Given the description of an element on the screen output the (x, y) to click on. 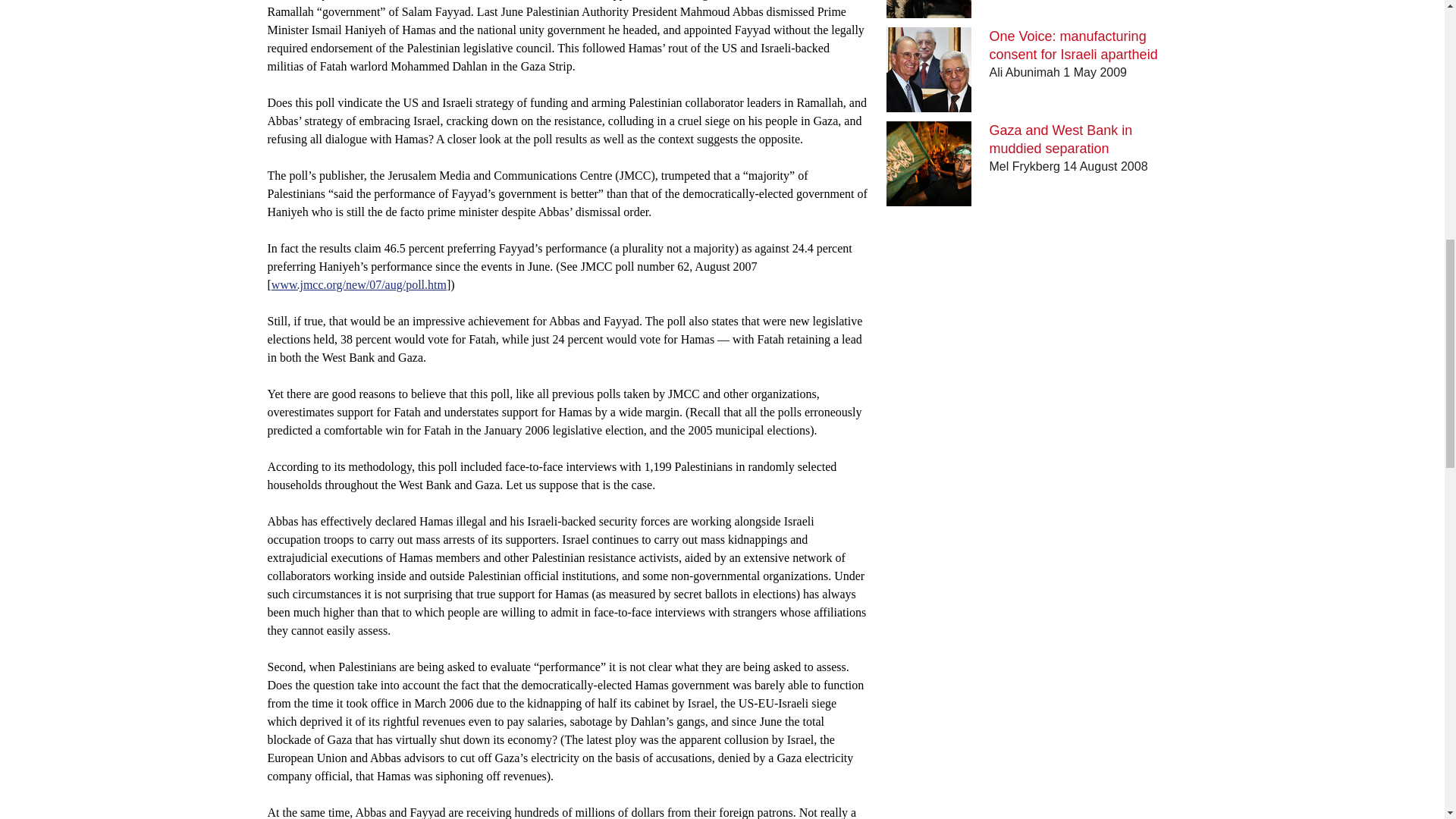
Gaza and West Bank in muddied separation (1061, 139)
One Voice: manufacturing consent for Israeli apartheid (1073, 45)
